Given the description of an element on the screen output the (x, y) to click on. 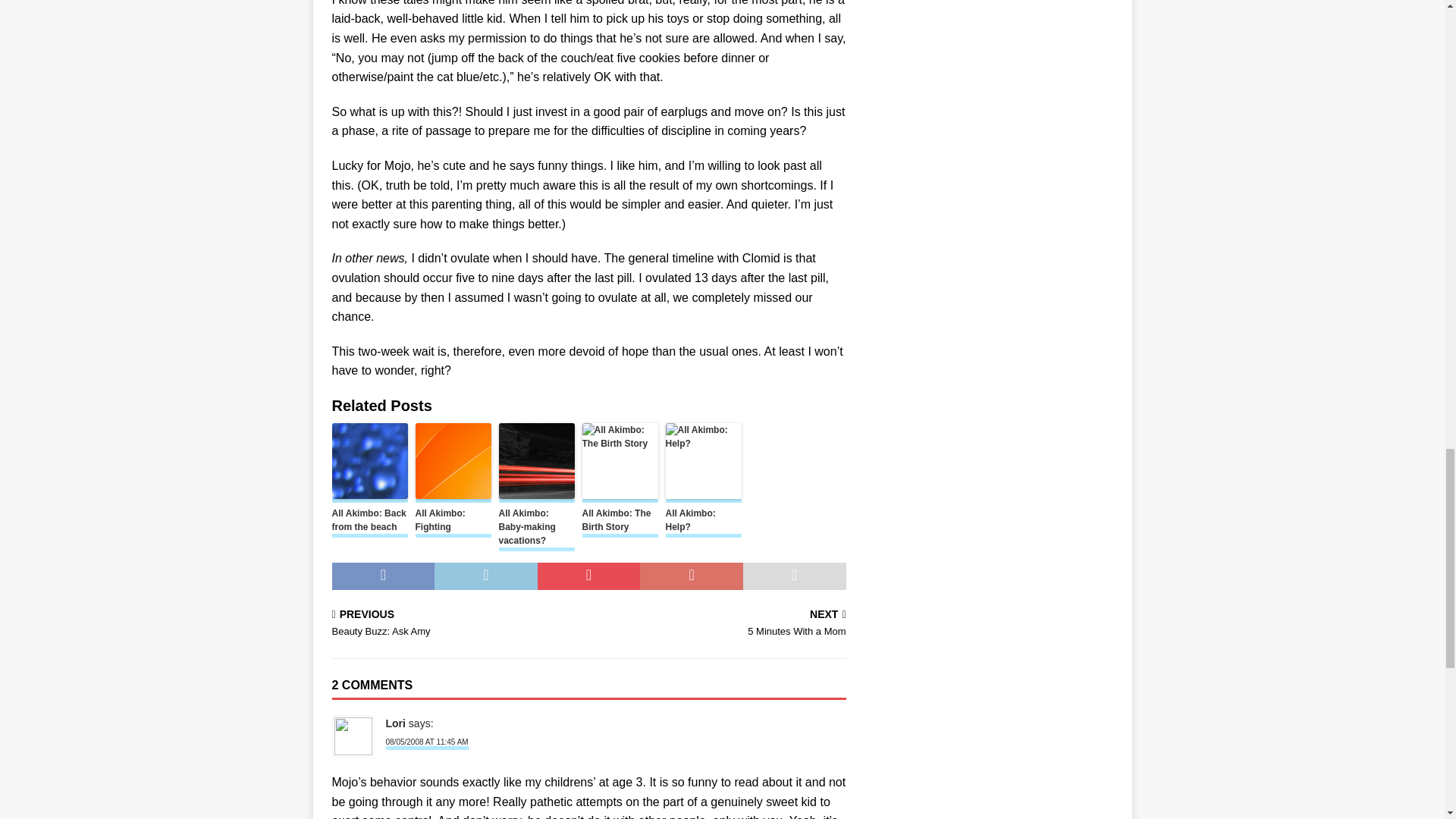
All Akimbo: Baby-making vacations? (537, 528)
All Akimbo: Fighting (453, 521)
All Akimbo: The Birth Story (620, 521)
All Akimbo: Back from the beach (369, 521)
All Akimbo: Help? (703, 521)
